Given the description of an element on the screen output the (x, y) to click on. 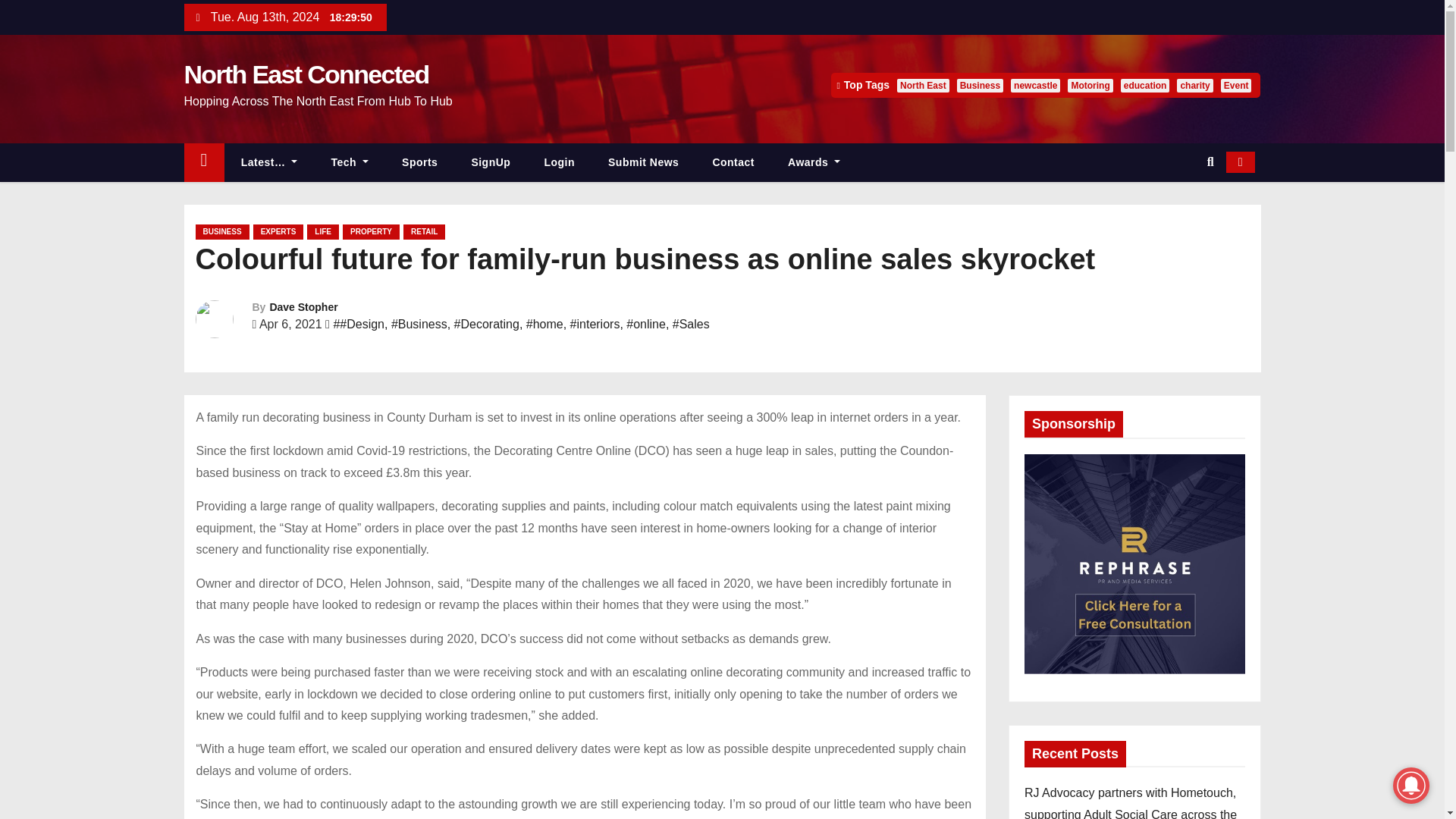
education (1145, 85)
Contact (733, 162)
Motoring (1089, 85)
PROPERTY (370, 231)
North East Connected (305, 73)
Login (559, 162)
BUSINESS (221, 231)
newcastle (1034, 85)
Login (559, 162)
SignUp (490, 162)
